Given the description of an element on the screen output the (x, y) to click on. 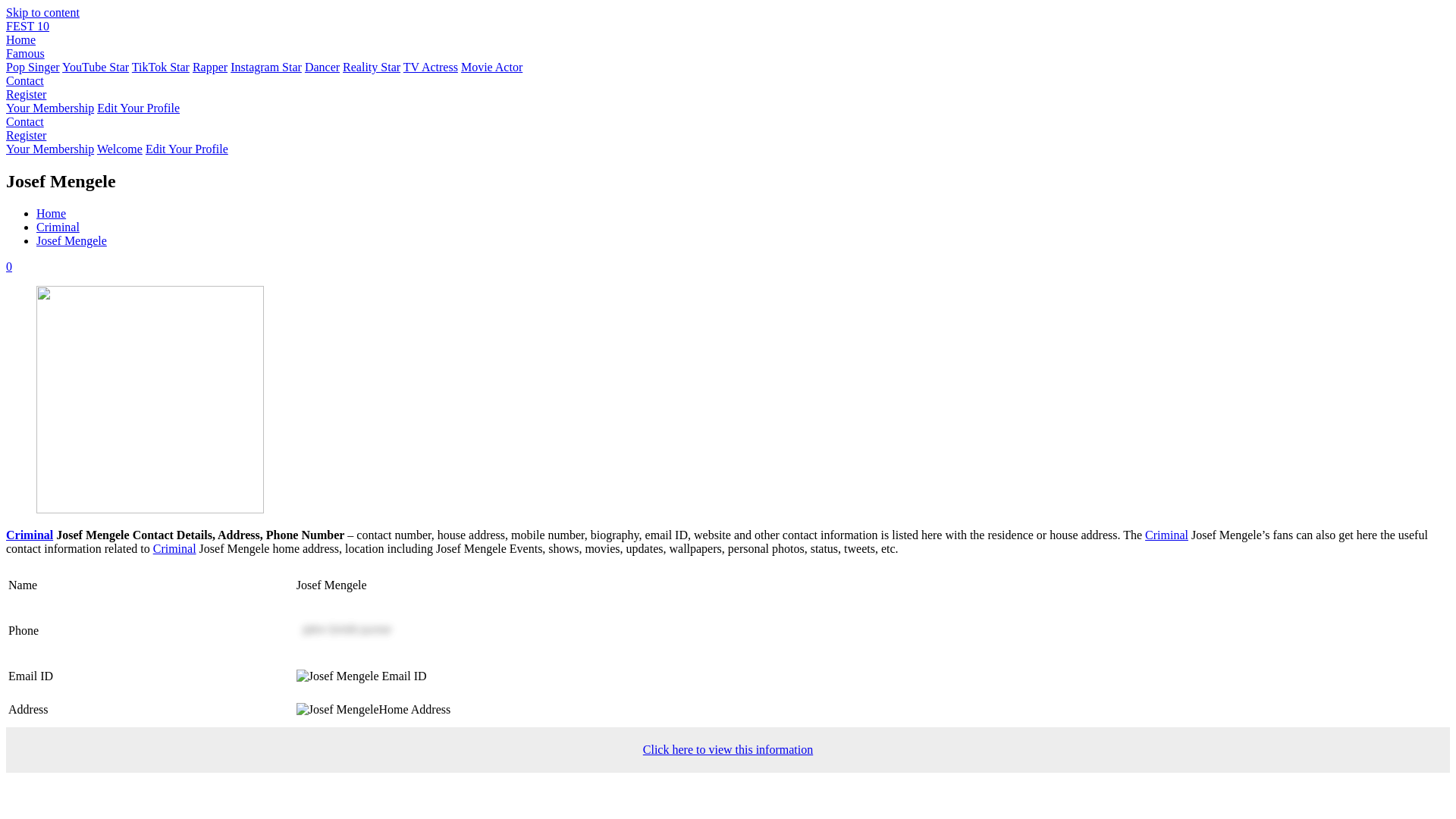
FEST 10 (27, 25)
Movie Actor (491, 66)
Pop Singer (32, 66)
Register (25, 134)
FEST 10 (27, 25)
Criminal (174, 548)
YouTube Star (95, 66)
Dancer (321, 66)
Your Membership (49, 107)
Welcome (119, 148)
